Given the description of an element on the screen output the (x, y) to click on. 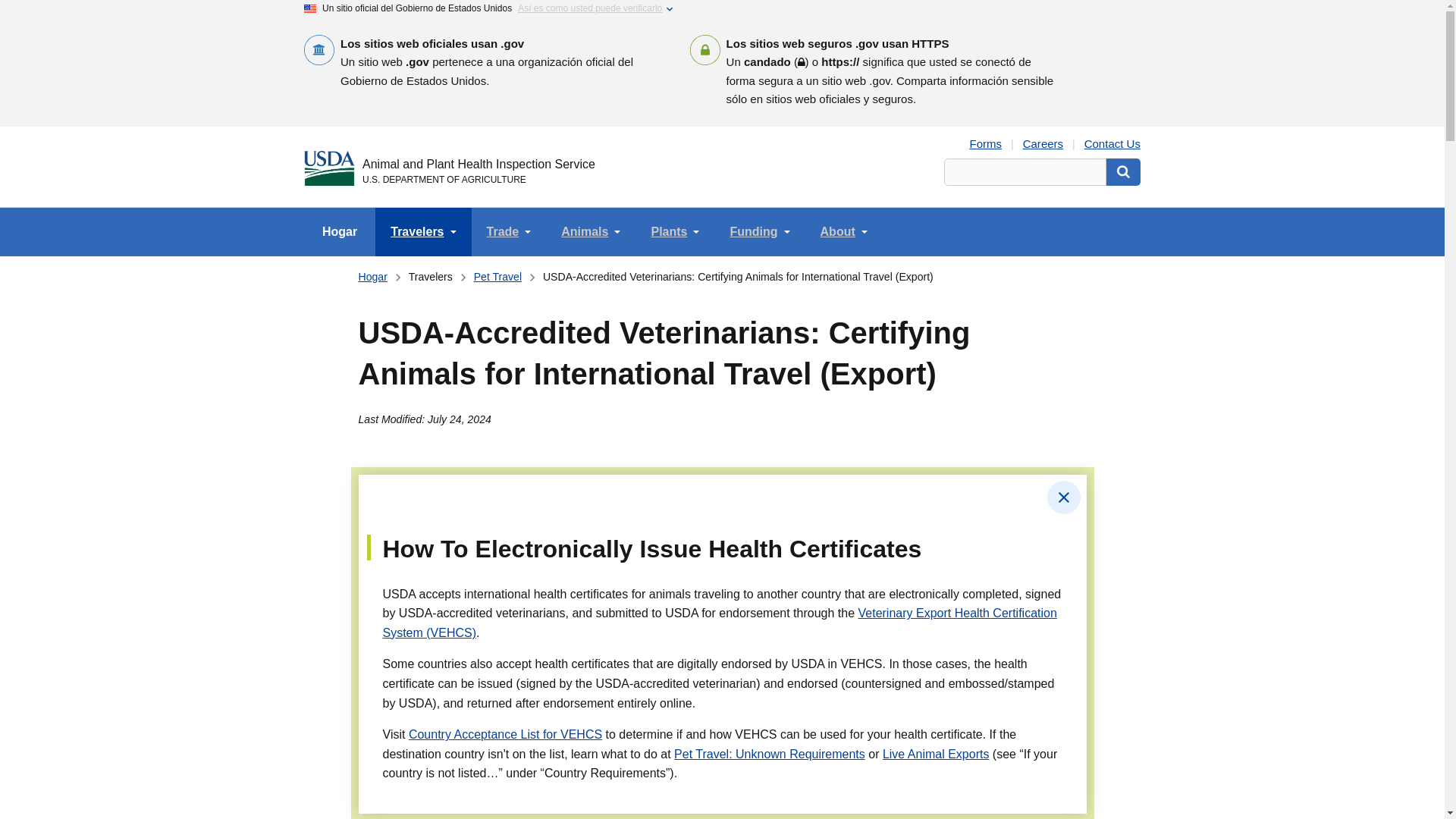
USDA Logo (329, 167)
Forms (986, 143)
Hogar (339, 232)
Hogar (372, 276)
Plants (674, 232)
Country Acceptance List for VEHCS (505, 734)
Pet Travel: Unknown Requirements (769, 753)
Electronic Forms (986, 143)
Country Acceptance List for VEHCS (505, 734)
Animal and Plant Health Inspection Service (478, 164)
